Given the description of an element on the screen output the (x, y) to click on. 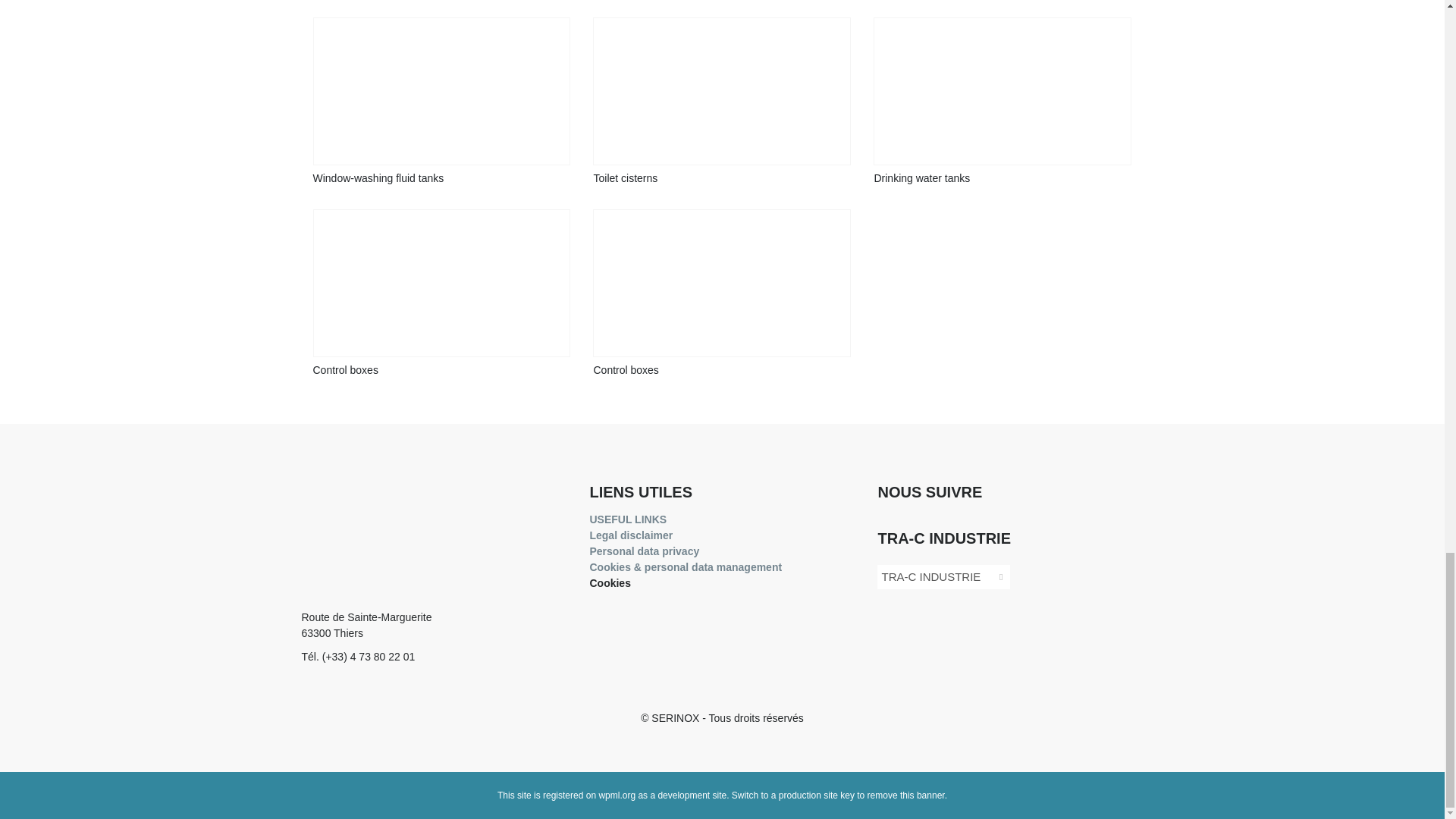
Legal disclaimer (434, 635)
USEFUL LINKS (630, 535)
Personal data privacy (627, 519)
